Given the description of an element on the screen output the (x, y) to click on. 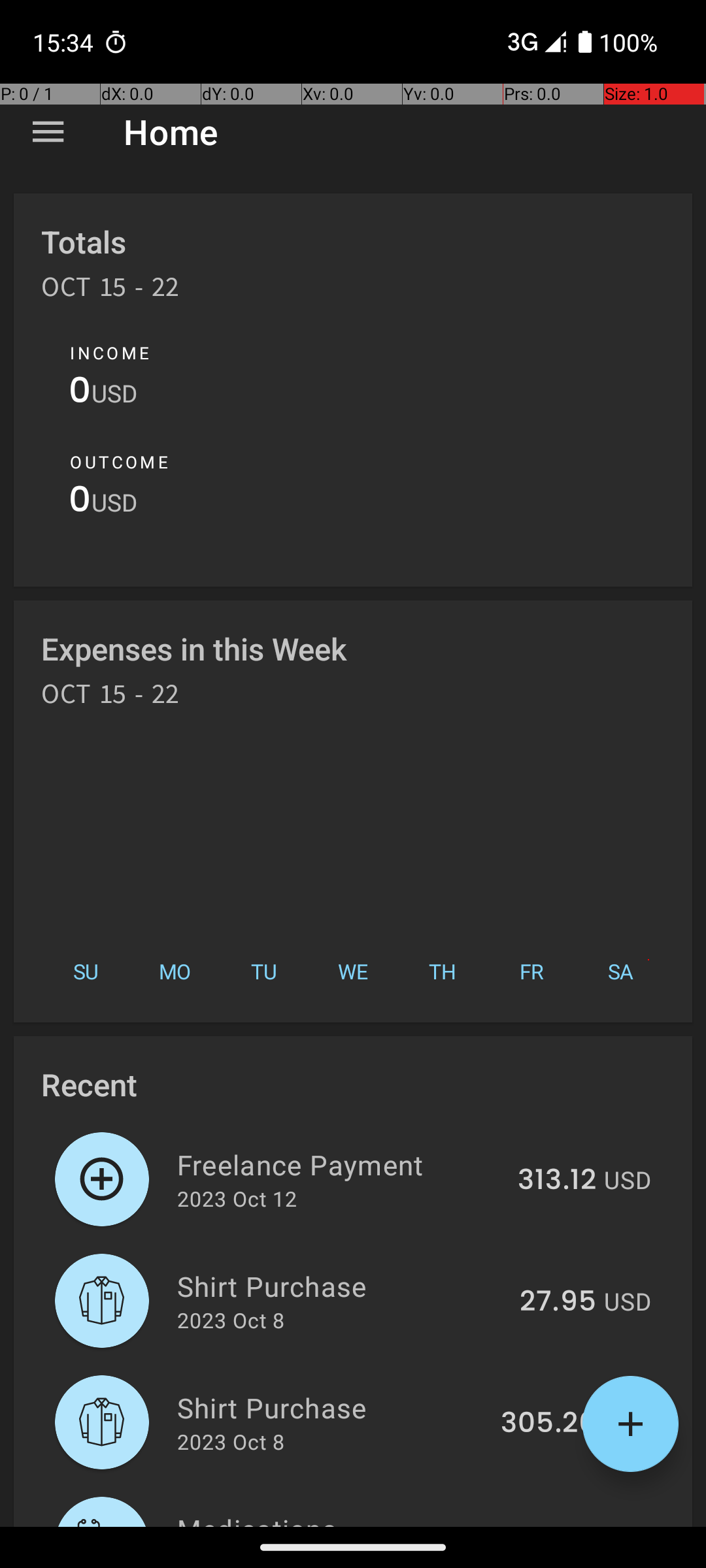
Freelance Payment Element type: android.widget.TextView (339, 1164)
2023 Oct 12 Element type: android.widget.TextView (236, 1198)
313.12 Element type: android.widget.TextView (556, 1180)
Shirt Purchase Element type: android.widget.TextView (340, 1285)
2023 Oct 8 Element type: android.widget.TextView (230, 1320)
27.95 Element type: android.widget.TextView (557, 1301)
305.26 Element type: android.widget.TextView (548, 1423)
Medications Element type: android.widget.TextView (336, 1518)
221.47 Element type: android.widget.TextView (553, 1524)
